Given the description of an element on the screen output the (x, y) to click on. 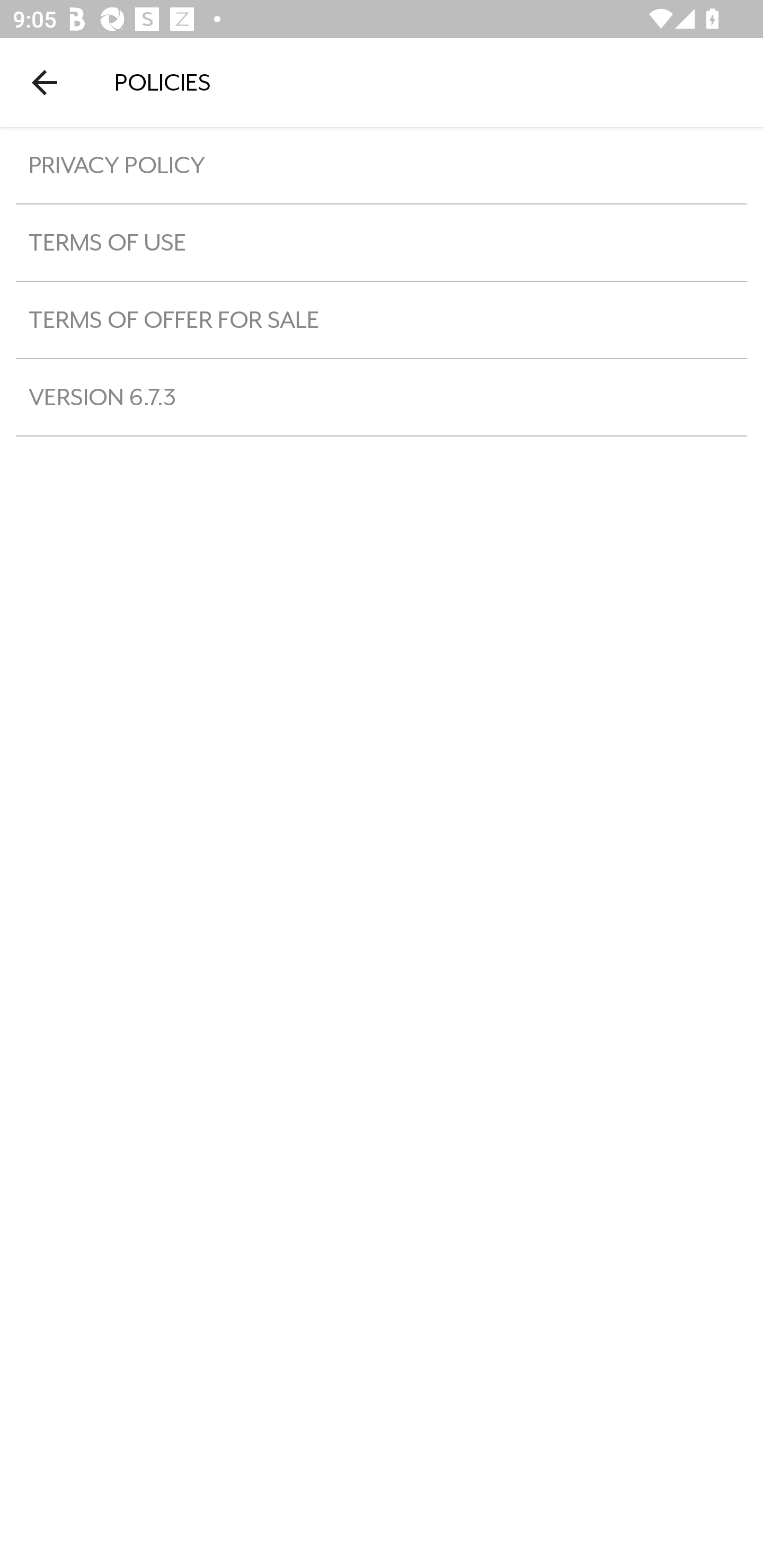
Navigate up (44, 82)
PRIVACY POLICY (381, 165)
TERMS OF USE (381, 241)
TERMS OF OFFER FOR SALE (381, 319)
VERSION 6.7.3 (381, 397)
